Given the description of an element on the screen output the (x, y) to click on. 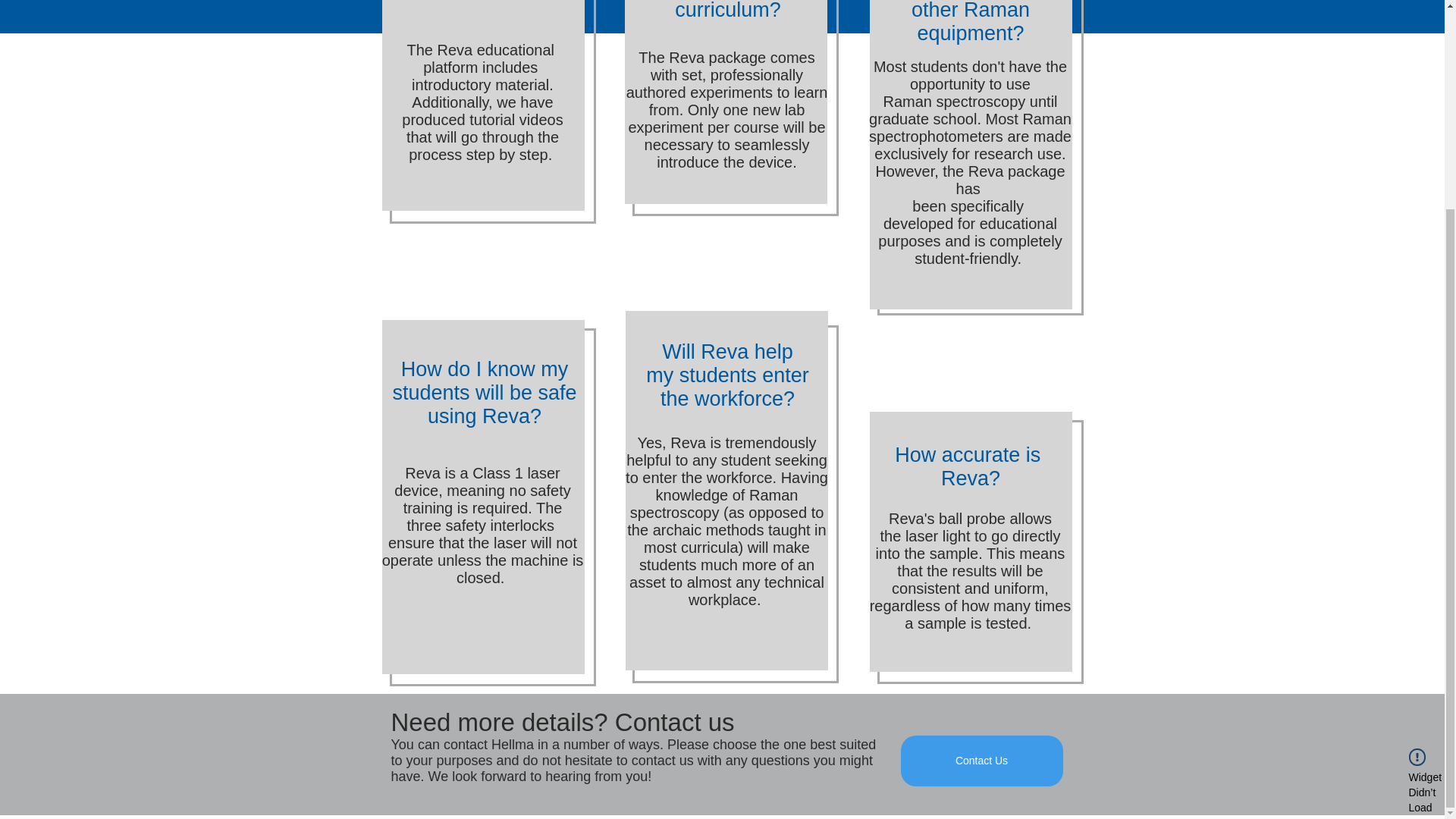
Contact Us (981, 760)
